Given the description of an element on the screen output the (x, y) to click on. 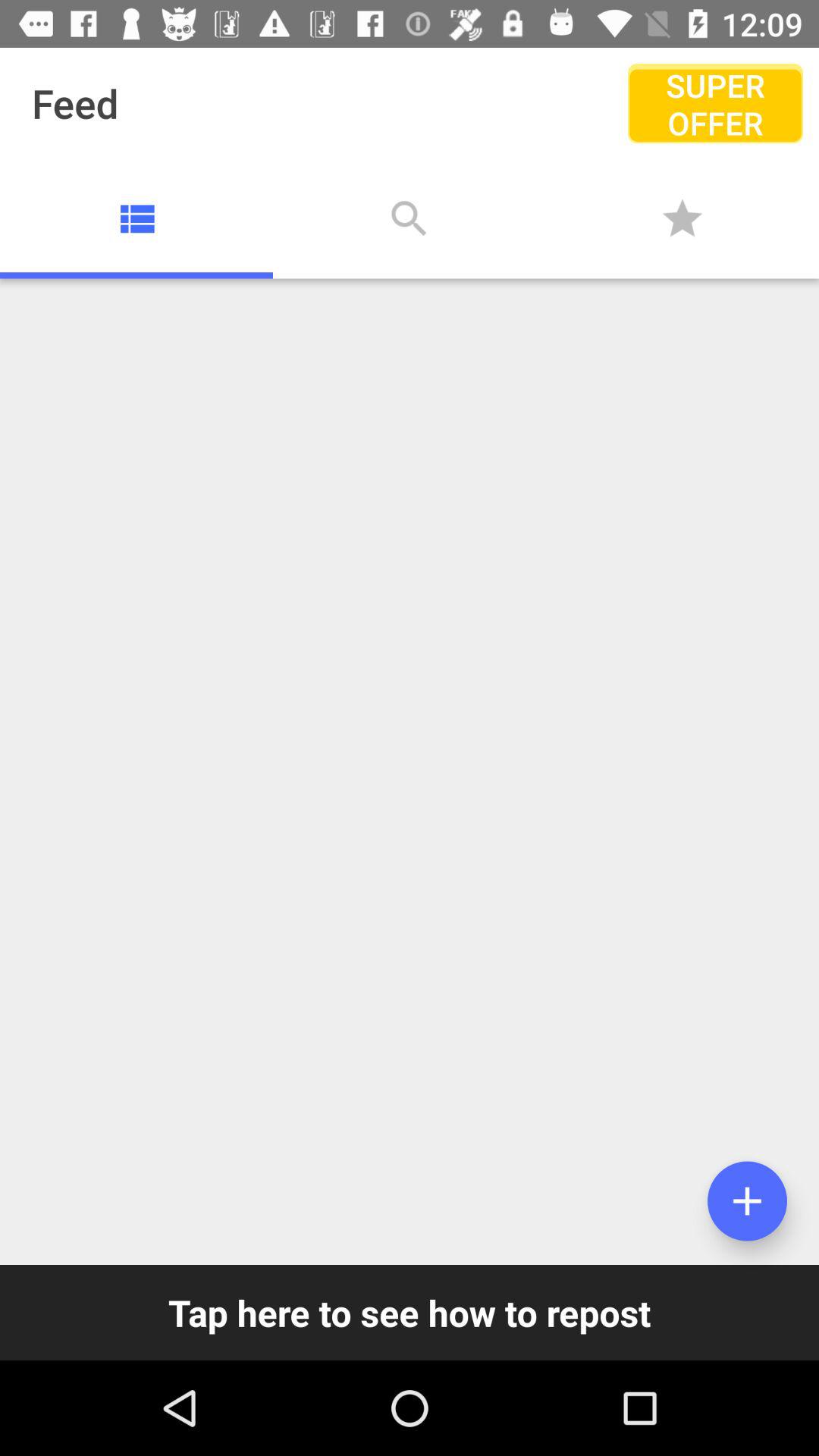
click add symbol (747, 1201)
